Given the description of an element on the screen output the (x, y) to click on. 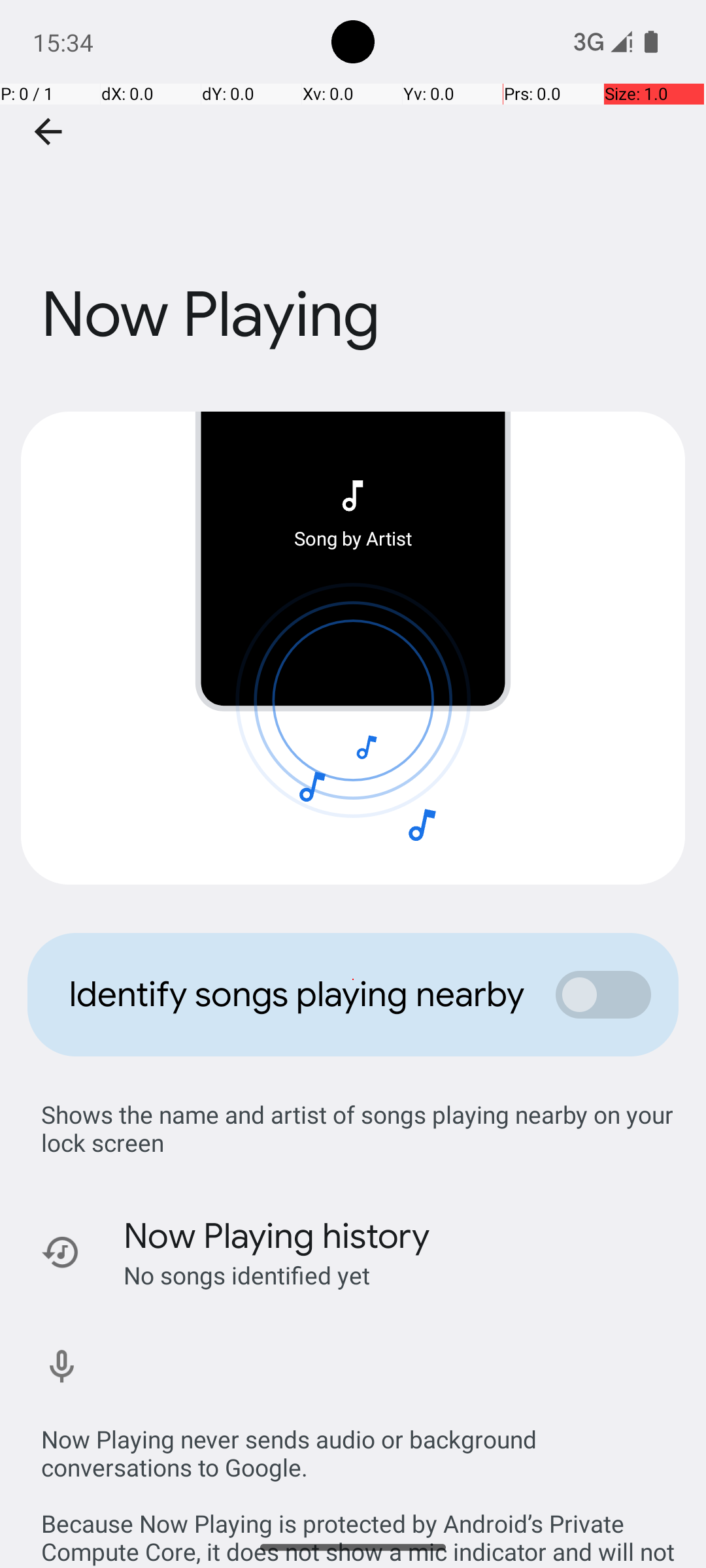
Now Playing Element type: android.widget.FrameLayout (353, 236)
Identify songs playing nearby Element type: android.widget.TextView (298, 994)
Shows the name and artist of songs playing nearby on your lock screen Element type: android.widget.TextView (359, 1128)
Now Playing history Element type: android.widget.TextView (276, 1235)
No songs identified yet Element type: android.widget.TextView (246, 1274)
Now Playing never sends audio or background conversations to Google.

Because Now Playing is protected by Android’s Private Compute Core, it does not show a mic indicator and will not appear on your Privacy dashboard. Element type: android.widget.TextView (359, 1481)
